Given the description of an element on the screen output the (x, y) to click on. 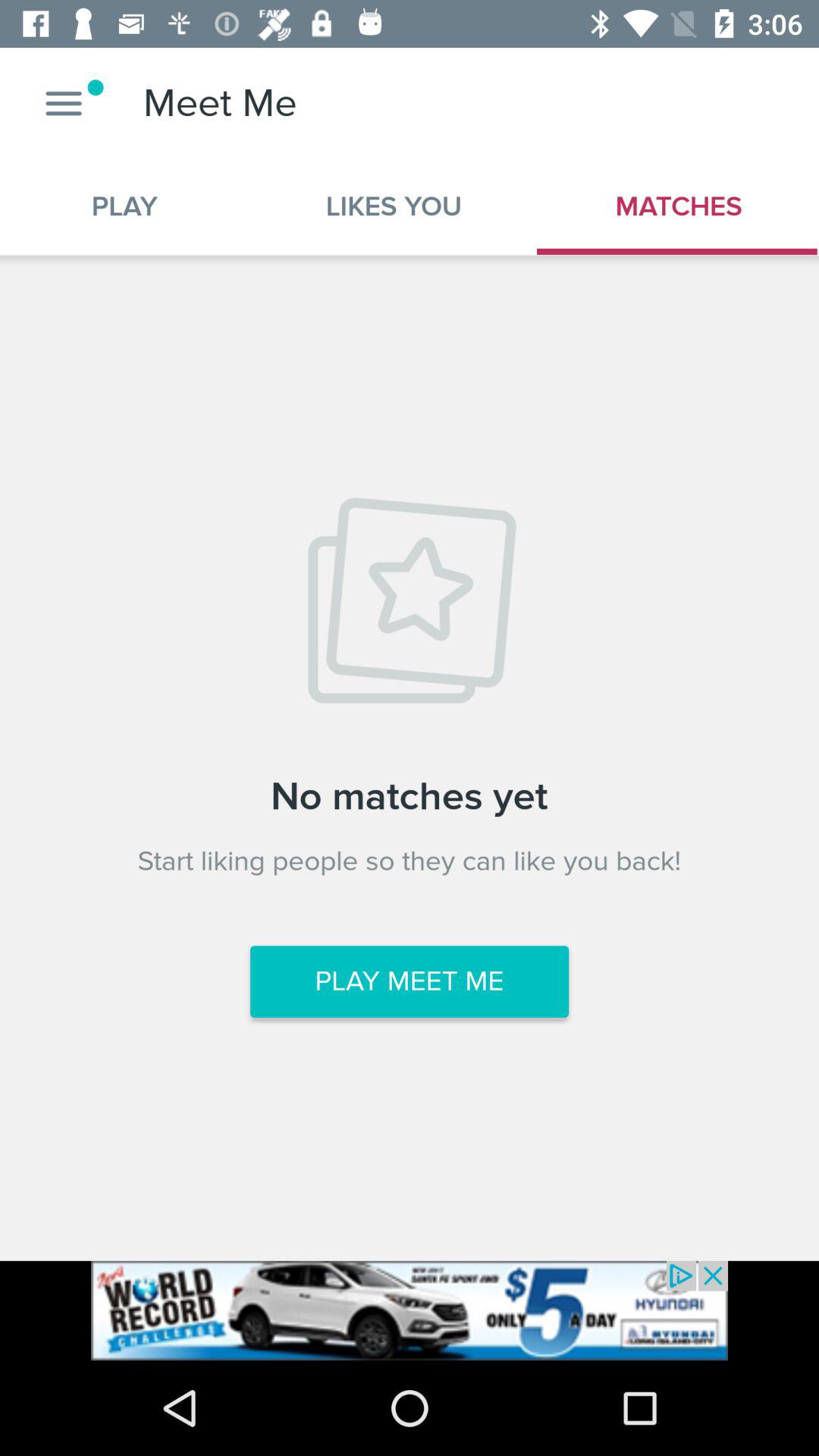
advertisement (409, 1310)
